Given the description of an element on the screen output the (x, y) to click on. 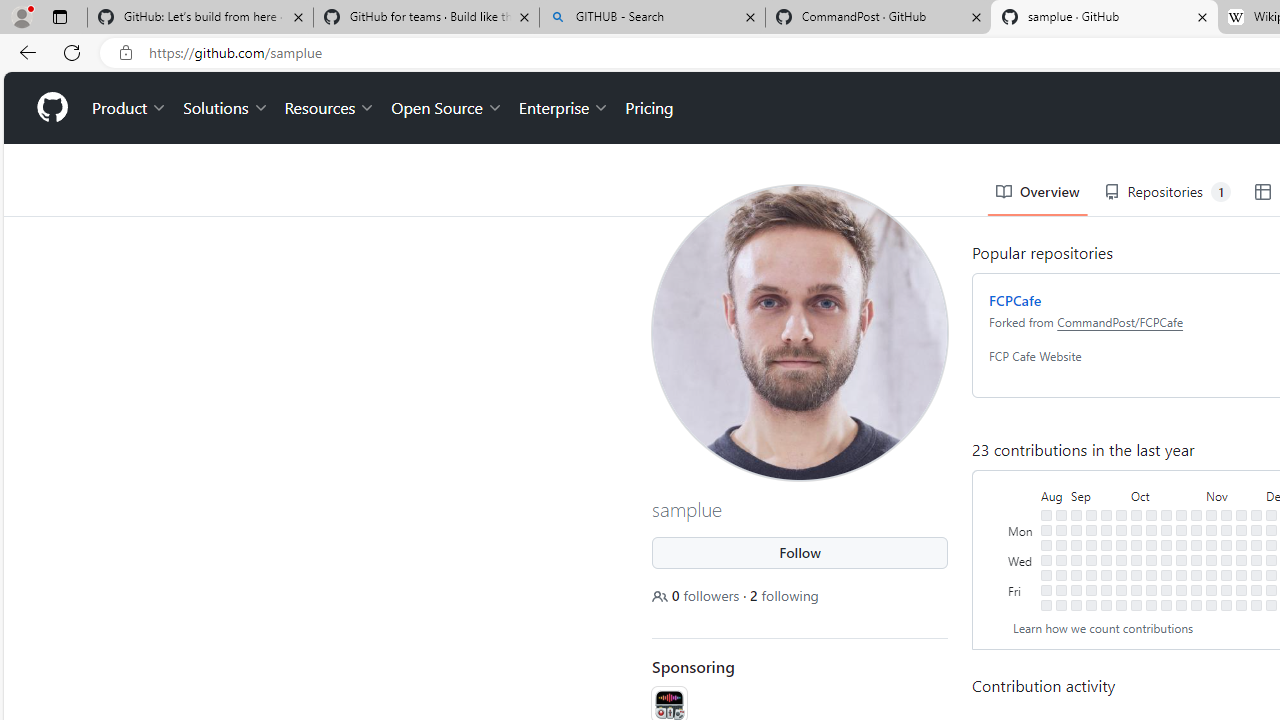
September (1098, 493)
No contributions on November 3rd. (1195, 589)
No contributions on September 15th. (1090, 589)
Resources (330, 107)
No contributions on November 6th. (1211, 529)
View samplue's full-sized avatar (799, 332)
No contributions on September 20th. (1106, 559)
Monday (1022, 529)
No contributions on November 22nd. (1241, 559)
No contributions on September 28th. (1121, 574)
No contributions on October 3rd. (1136, 544)
